Given the description of an element on the screen output the (x, y) to click on. 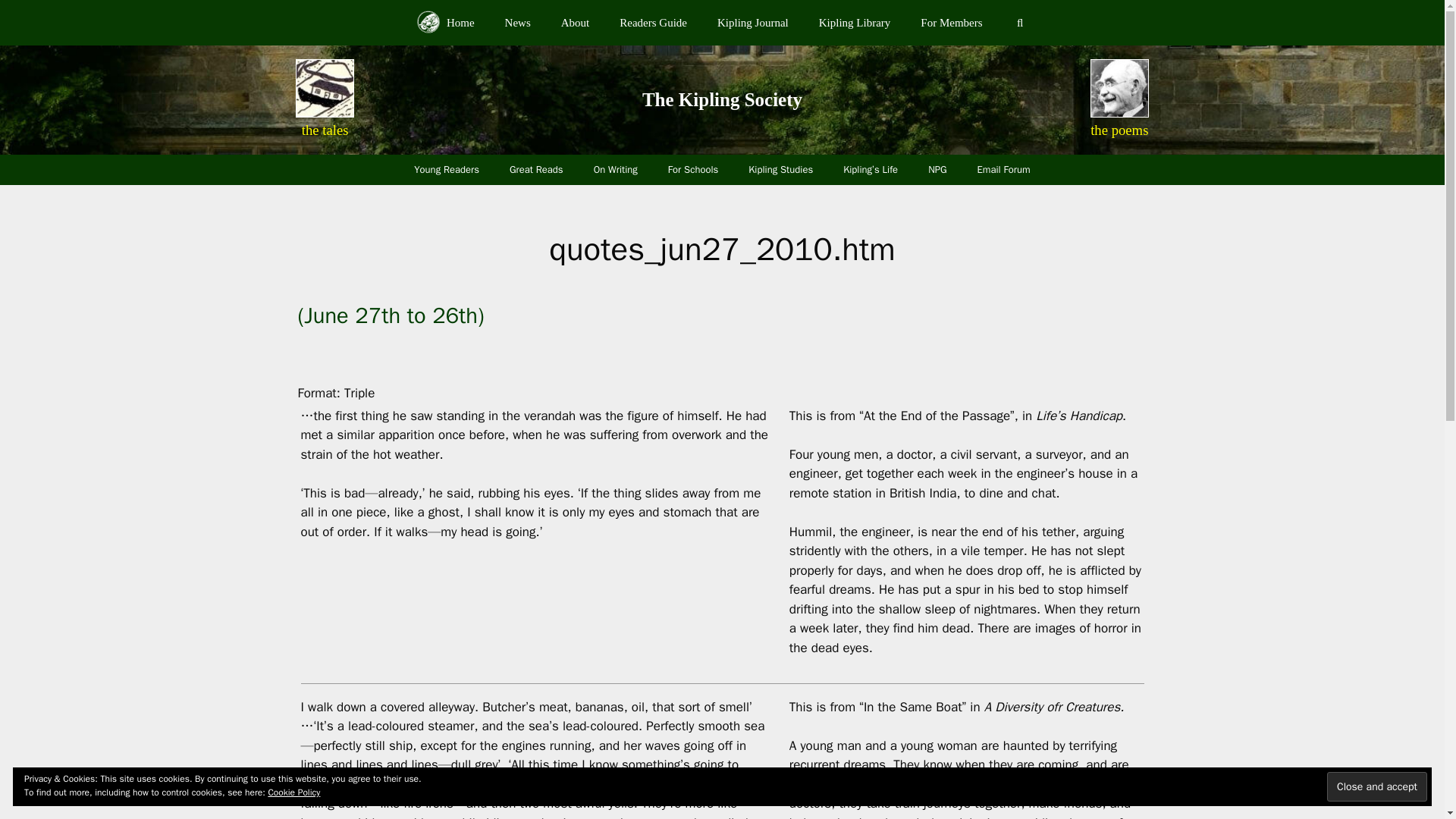
News (517, 22)
Email Forum (1003, 169)
About (575, 22)
the poems (1119, 130)
Kipling Studies (780, 169)
For Members (951, 22)
Close and accept (1376, 786)
On Writing (615, 169)
Readers Guide (652, 22)
Young Readers (446, 169)
Kipling Journal (752, 22)
Kipling Library (854, 22)
the tales (325, 130)
Great Reads (536, 169)
Home (445, 22)
